Given the description of an element on the screen output the (x, y) to click on. 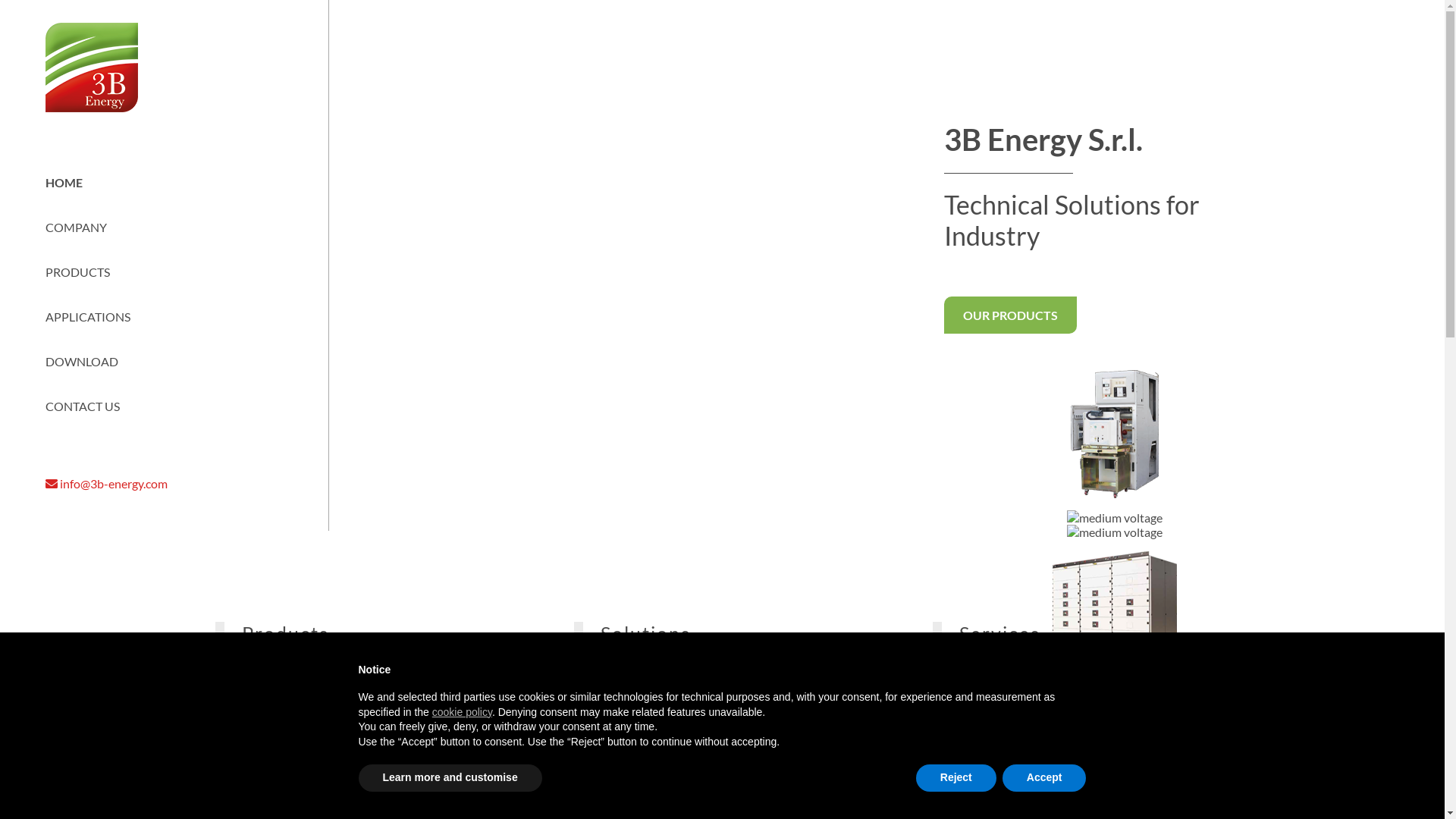
DOWNLOAD Element type: text (81, 361)
OUR PRODUCTS Element type: text (1010, 314)
info@3b-energy.com Element type: text (175, 482)
APPLICATIONS Element type: text (87, 316)
PRODUCTS Element type: text (77, 271)
cookie policy Element type: text (462, 712)
HOME Element type: text (63, 182)
COMPANY Element type: text (75, 226)
CONTACT US Element type: text (82, 405)
Reject Element type: text (956, 777)
Accept Element type: text (1044, 777)
Learn more and customise Element type: text (449, 777)
